Given the description of an element on the screen output the (x, y) to click on. 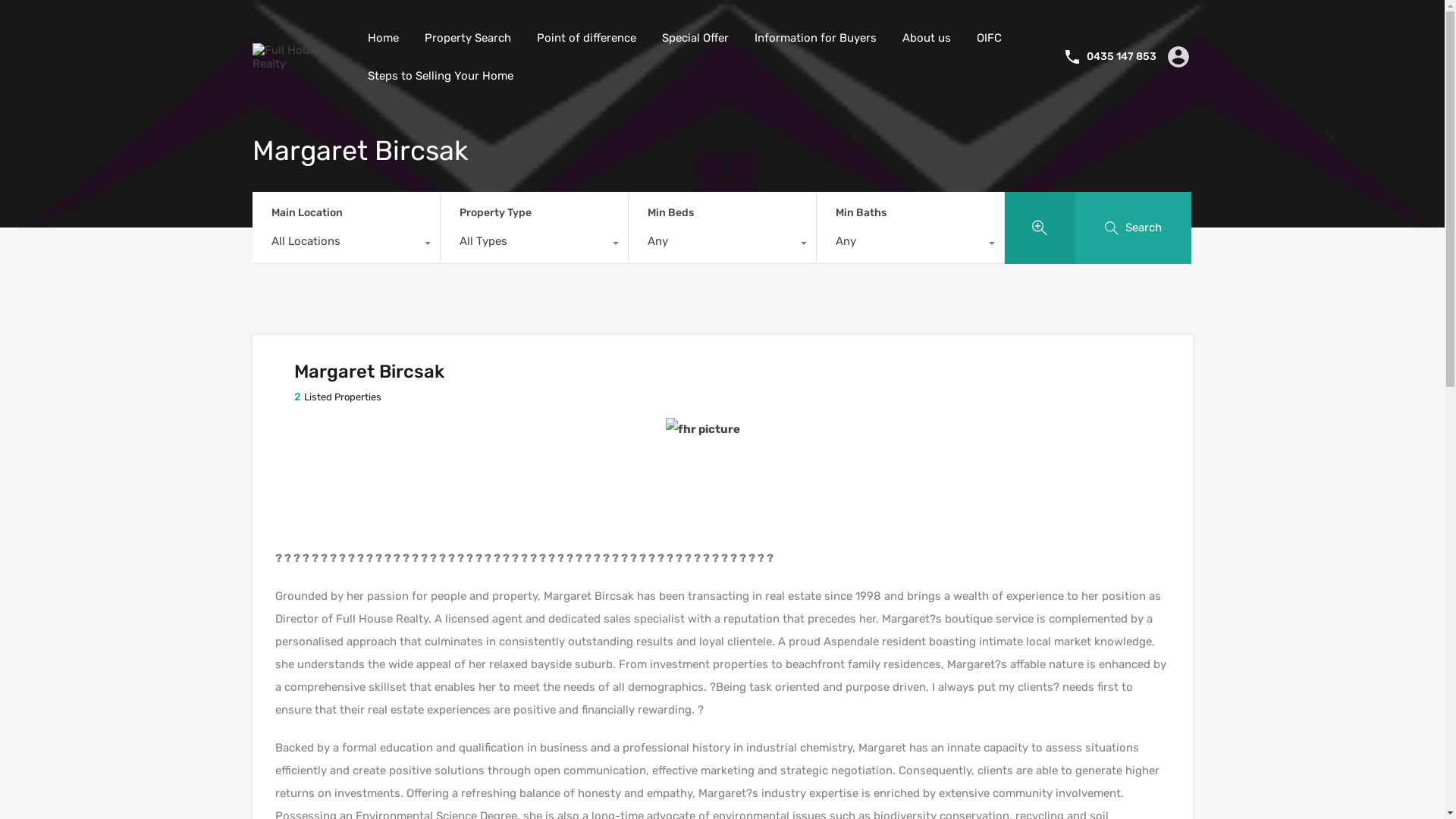
OIFC Element type: text (988, 37)
Steps to Selling Your Home Element type: text (440, 75)
All Locations Element type: text (345, 244)
Point of difference Element type: text (585, 37)
Special Offer Element type: text (695, 37)
Any Element type: text (721, 244)
All Types Element type: text (533, 244)
About us Element type: text (925, 37)
Full House Realty Element type: hover (296, 63)
Property Search Element type: text (467, 37)
Search Element type: text (1133, 227)
Information for Buyers Element type: text (815, 37)
0435 147 853 Element type: text (1120, 56)
Any Element type: text (909, 244)
Home Element type: text (382, 37)
